Given the description of an element on the screen output the (x, y) to click on. 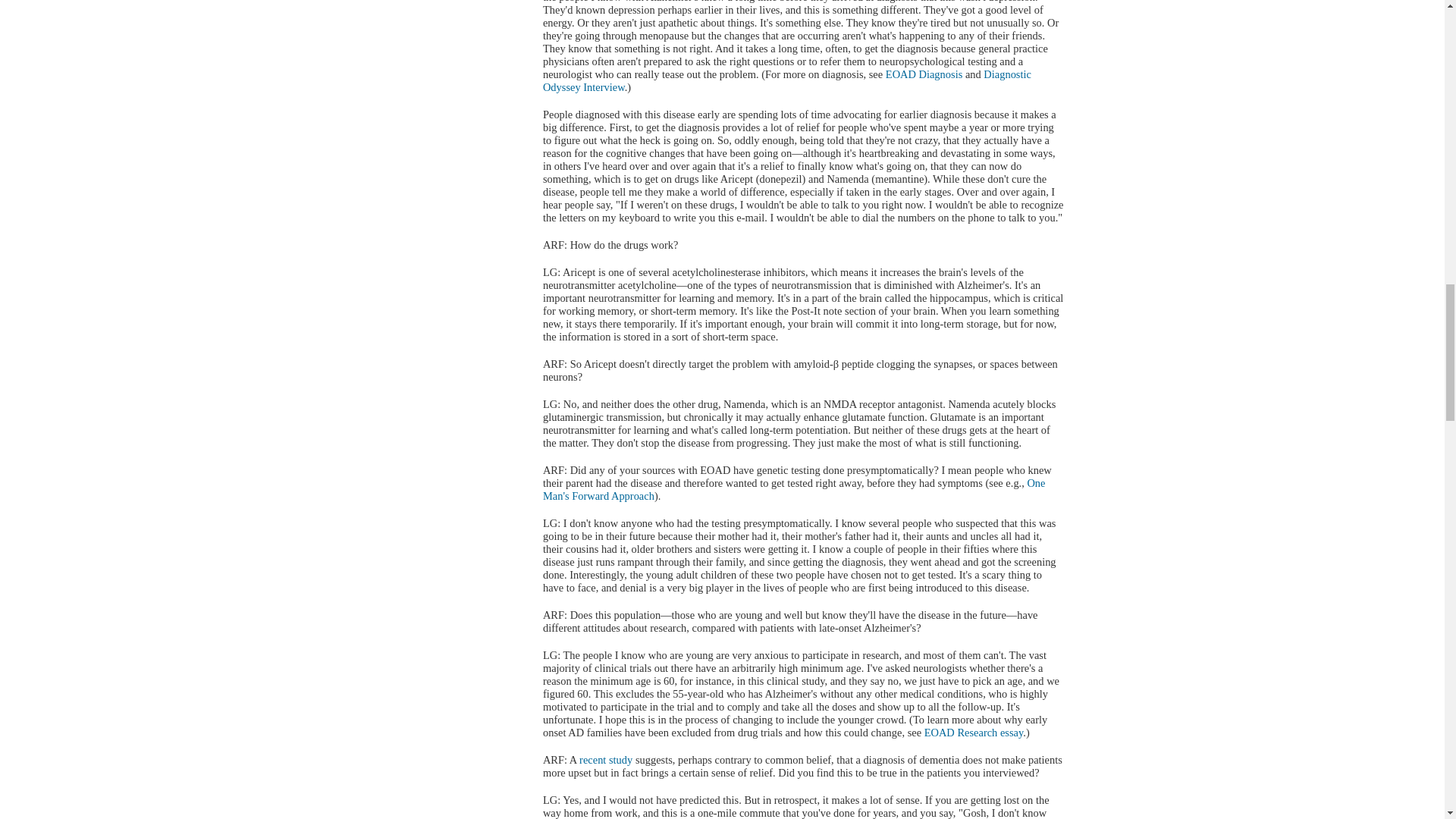
EOAD Research essay (973, 732)
recent study (605, 759)
One Man's Forward Approach (794, 489)
EOAD Diagnosis (923, 73)
Diagnostic Odyssey Interview (786, 80)
